Given the description of an element on the screen output the (x, y) to click on. 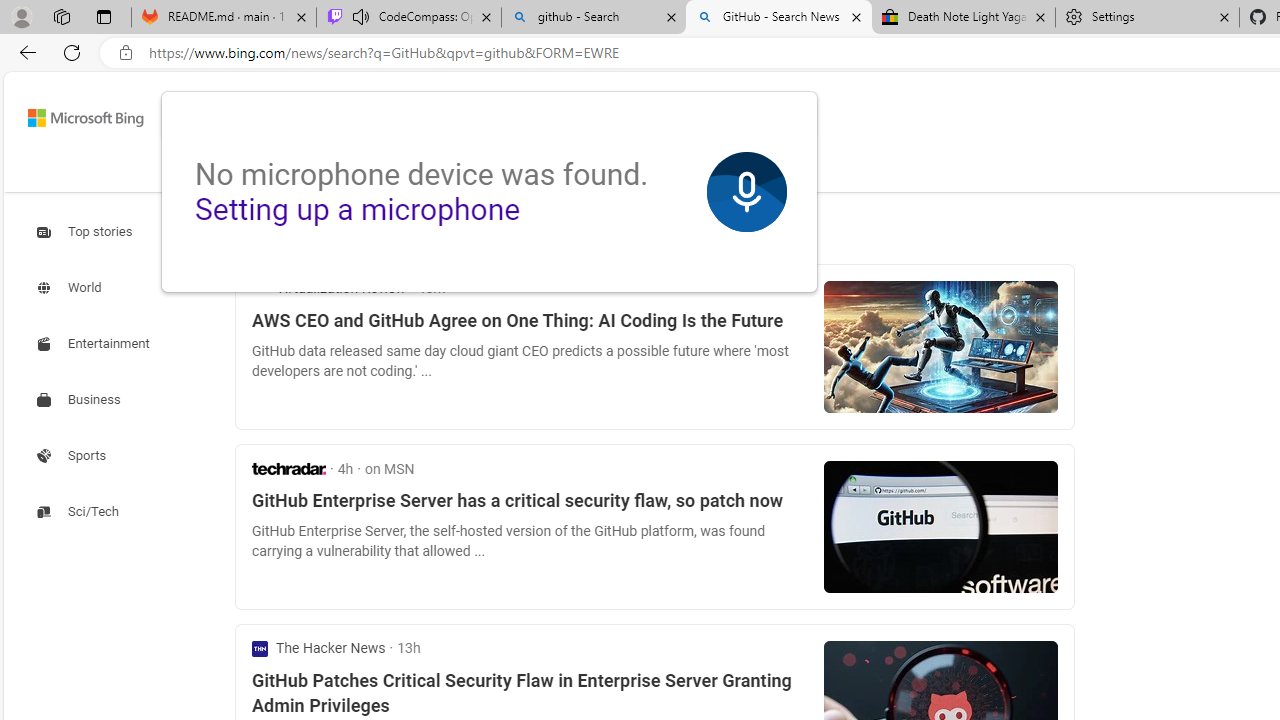
Best match (401, 232)
TechRadar (289, 468)
GitHub - Search News (779, 17)
Dropdown Menu (696, 170)
COPILOT (311, 170)
Any time (287, 232)
Search news about Sci/Tech (80, 511)
IMAGES (394, 173)
Mute tab (360, 16)
Search news about Sports (73, 455)
Back to Bing search (73, 113)
